Given the description of an element on the screen output the (x, y) to click on. 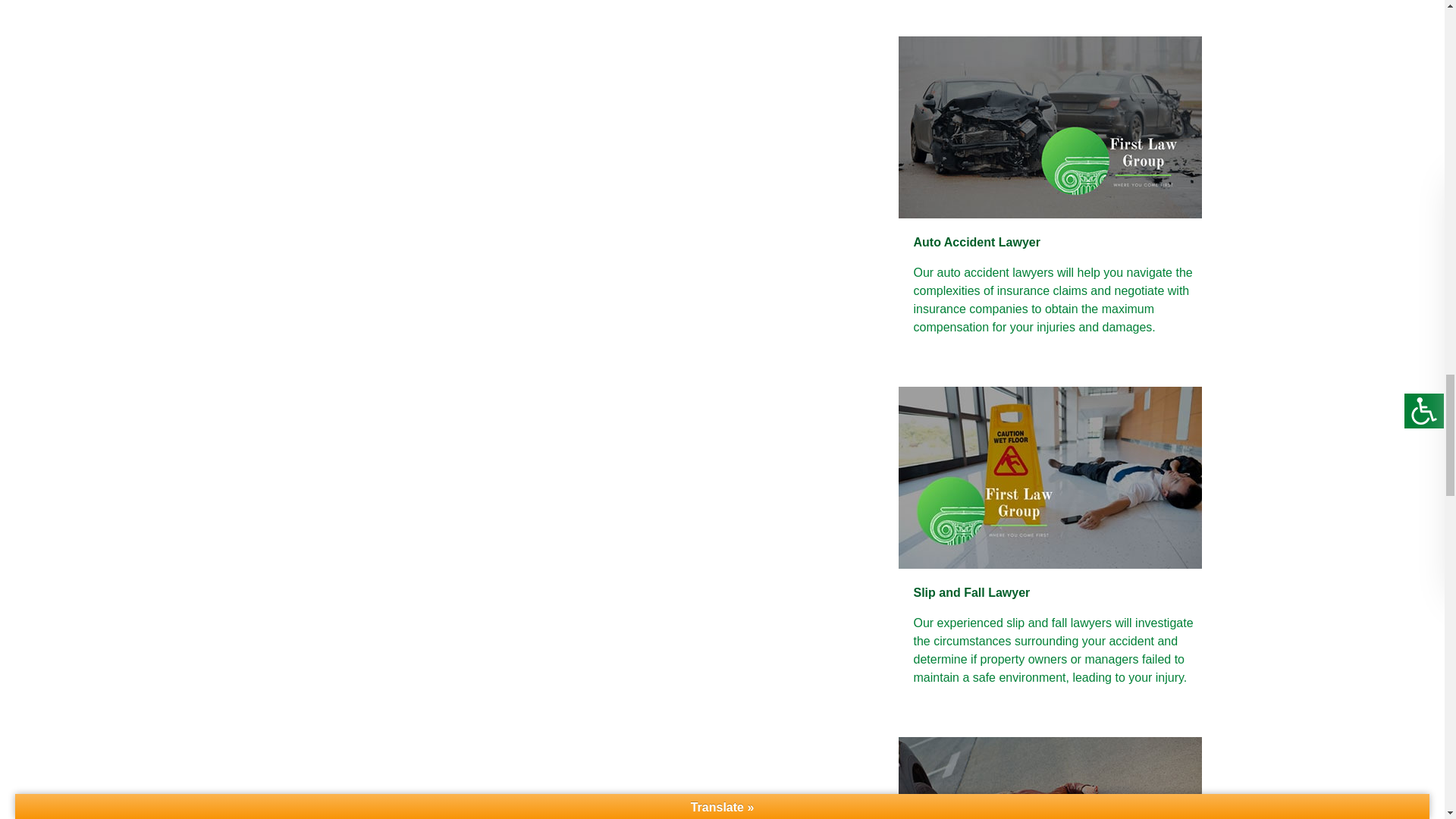
Motorcycle Accident (446, 13)
Pedestrian Accident (279, 13)
